Given the description of an element on the screen output the (x, y) to click on. 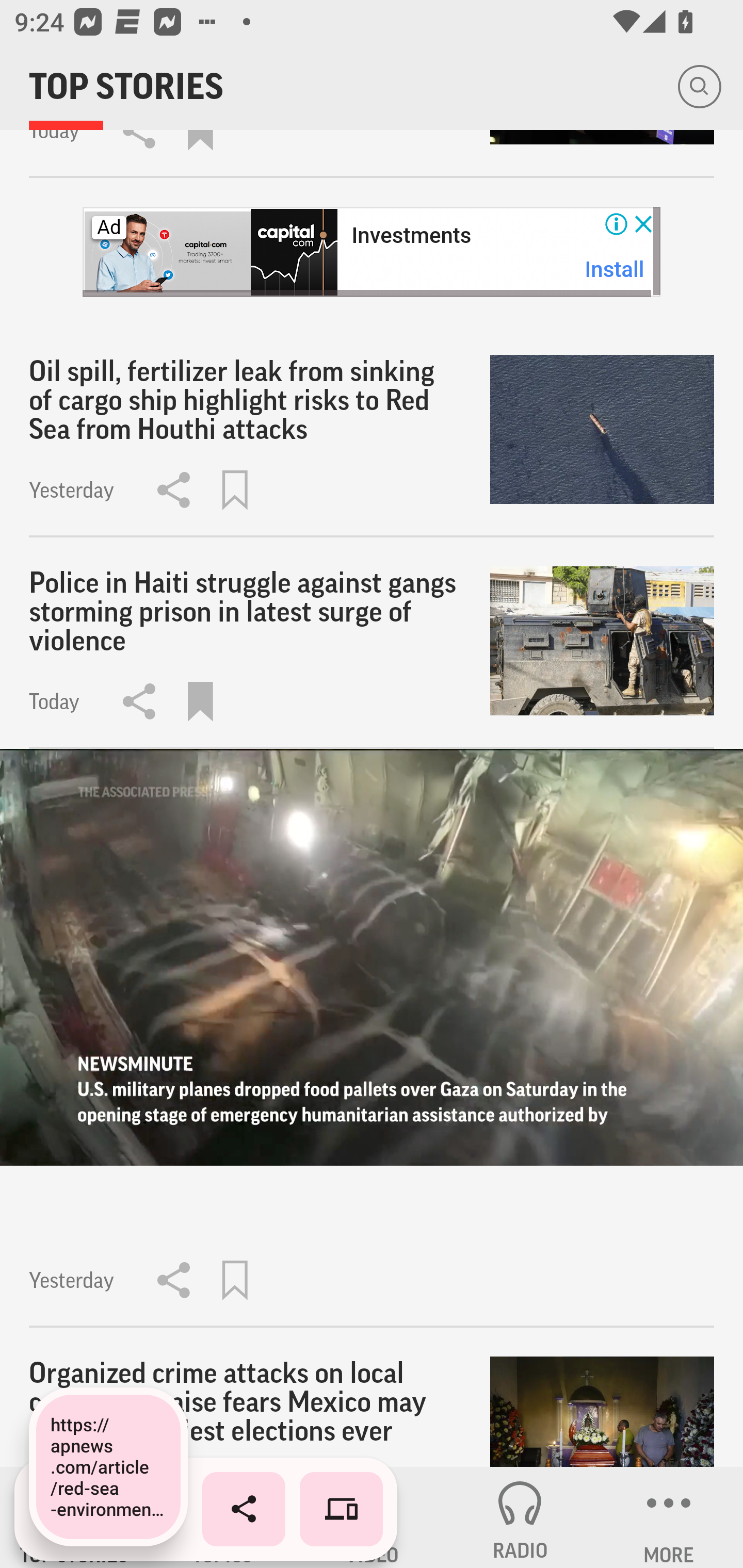
Investments (410, 235)
Install (614, 269)
toggle controls Yesterday (371, 1038)
toggle controls (371, 957)
TOPICS (222, 1517)
VIDEO (371, 1517)
RADIO (519, 1517)
MORE (668, 1517)
